Given the description of an element on the screen output the (x, y) to click on. 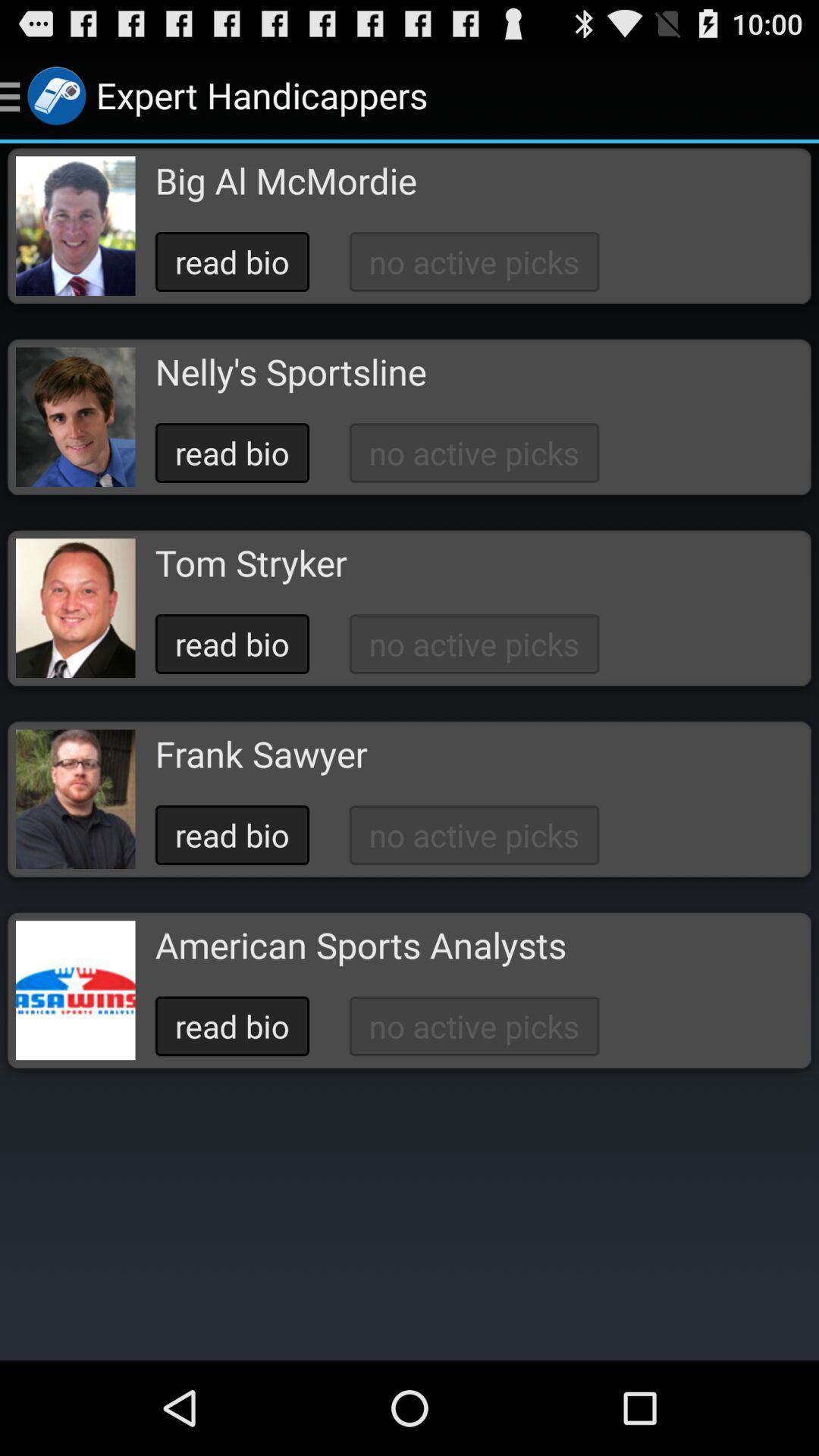
turn on the icon below the read bio item (261, 753)
